Given the description of an element on the screen output the (x, y) to click on. 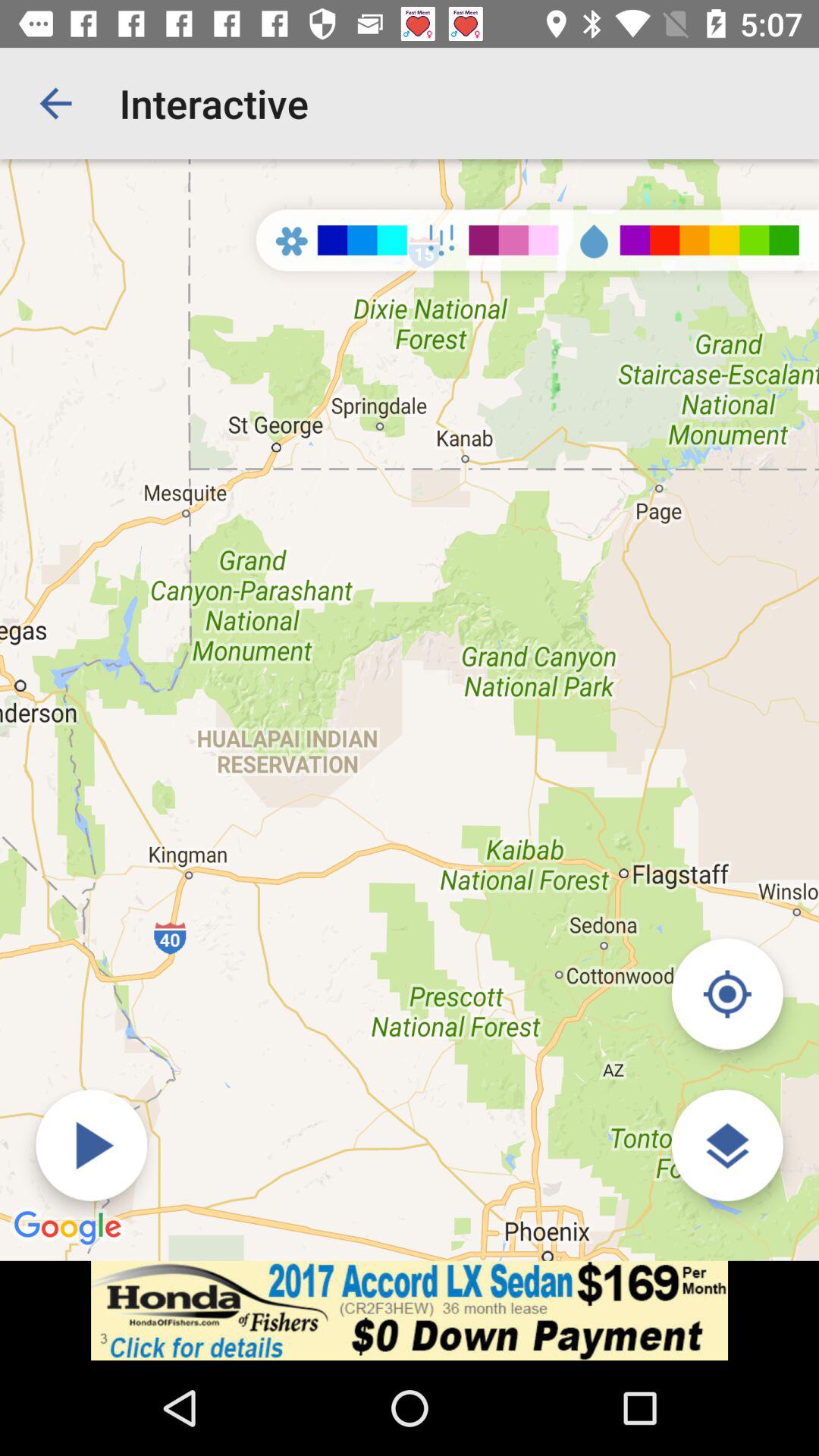
different filter for map (727, 1145)
